Given the description of an element on the screen output the (x, y) to click on. 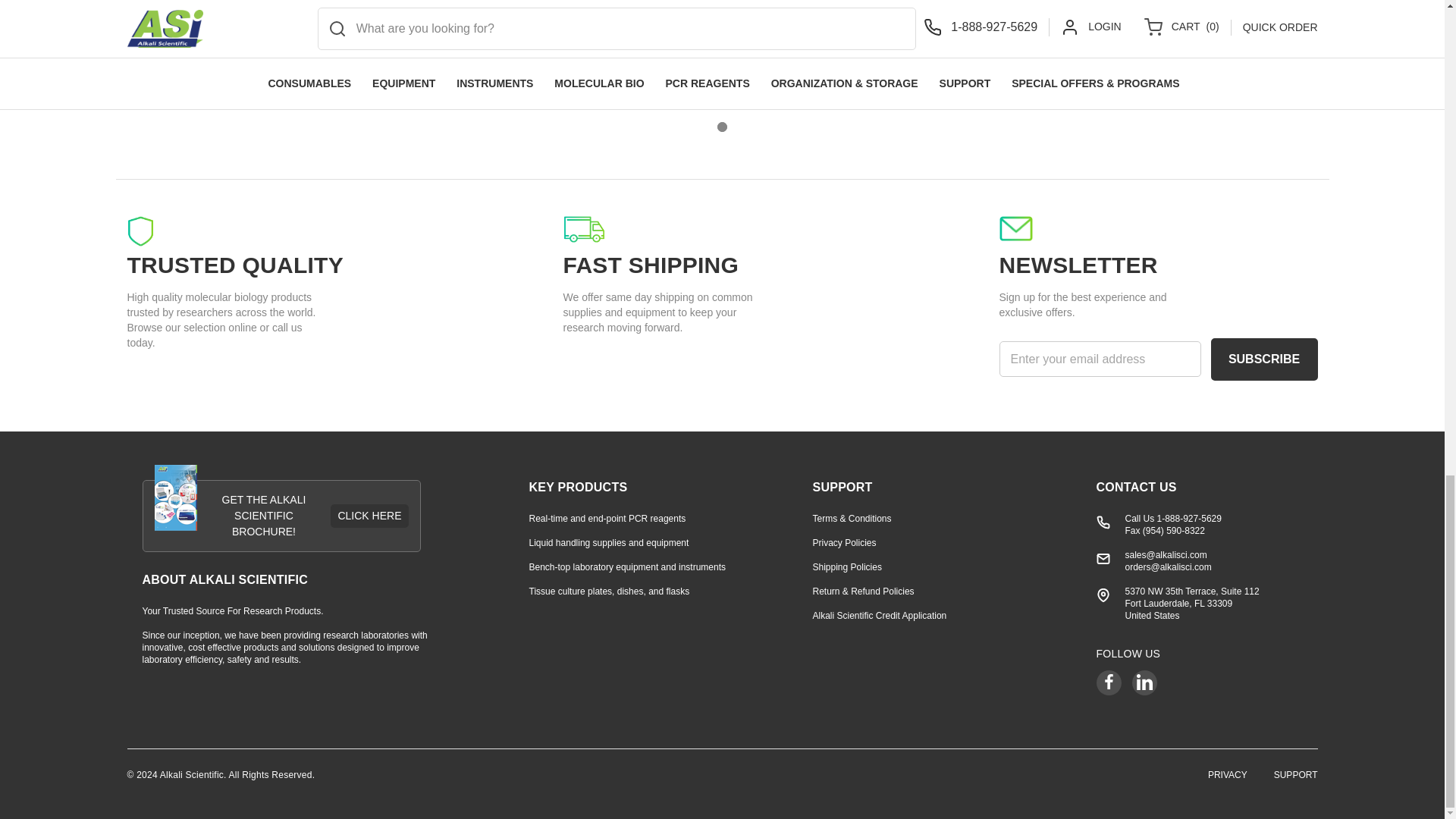
Subscribe (1263, 359)
